Given the description of an element on the screen output the (x, y) to click on. 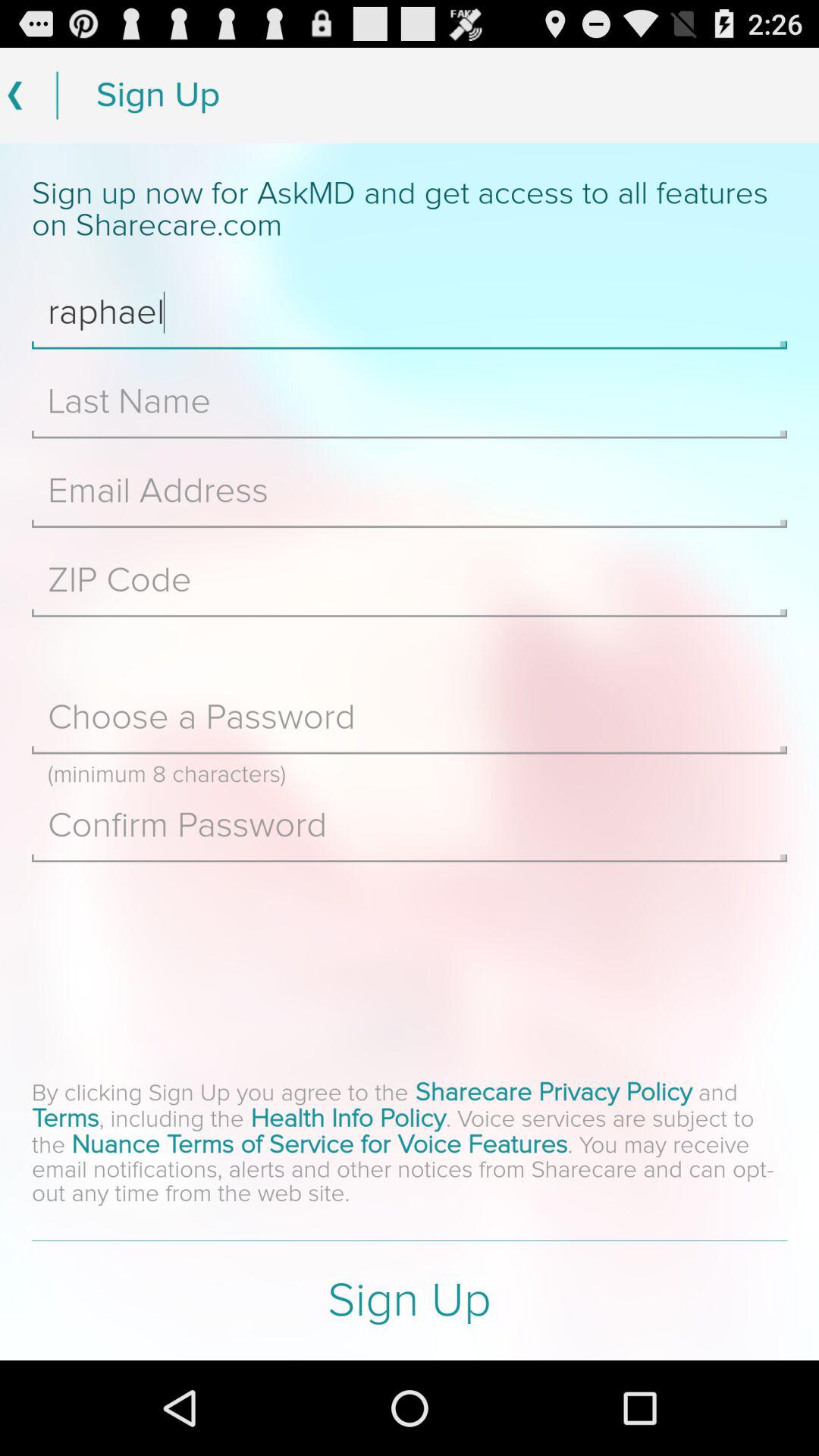
enter last name (409, 401)
